Given the description of an element on the screen output the (x, y) to click on. 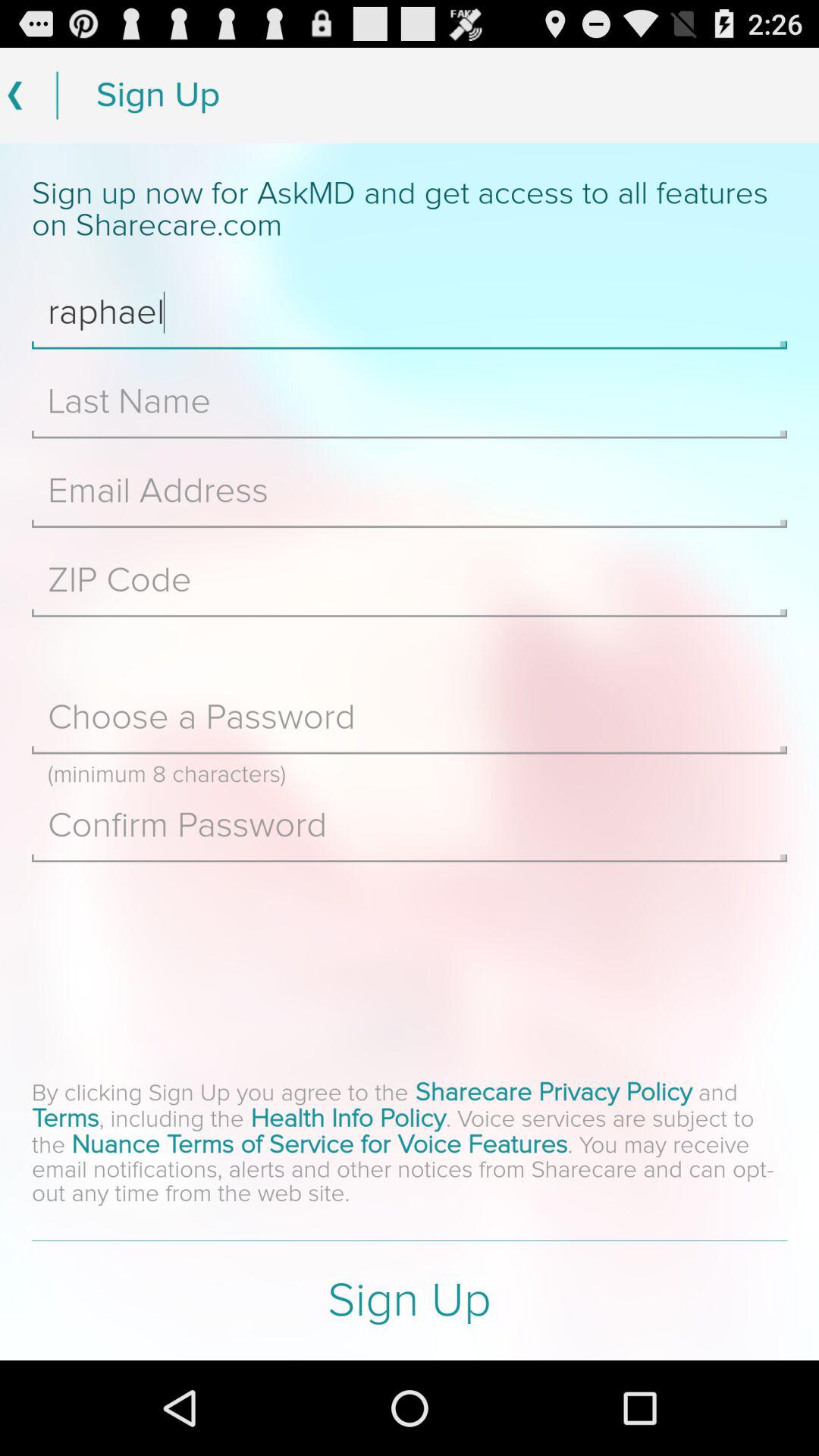
enter last name (409, 401)
